Given the description of an element on the screen output the (x, y) to click on. 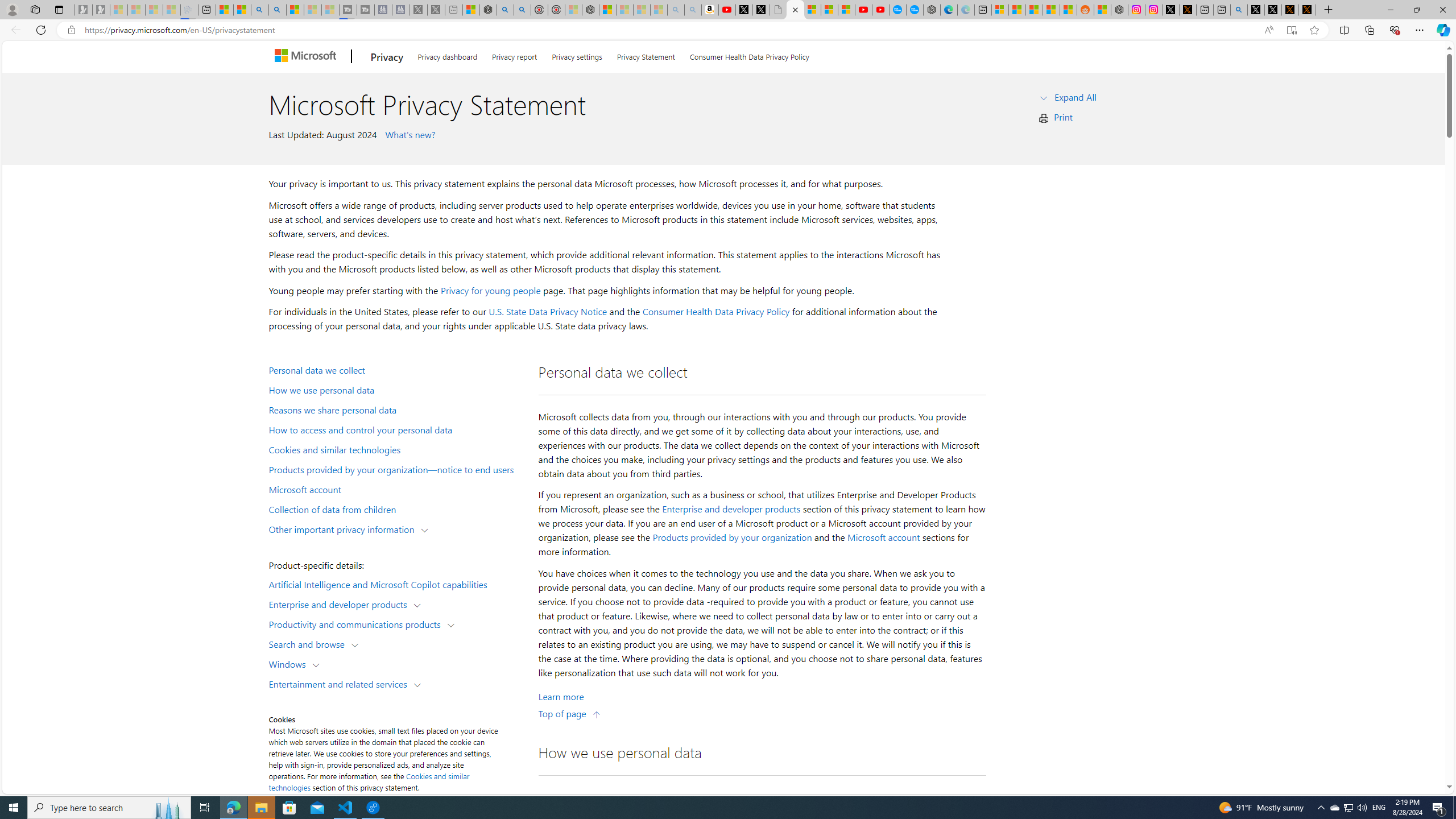
Cookies and similar technologies (368, 780)
poe ++ standard - Search (522, 9)
Privacy report (514, 54)
Nordace - Nordace Siena Is Not An Ordinary Backpack (590, 9)
Expand All (1075, 96)
Privacy Statement (645, 54)
Consumer Health Data Privacy Policy (748, 54)
